Given the description of an element on the screen output the (x, y) to click on. 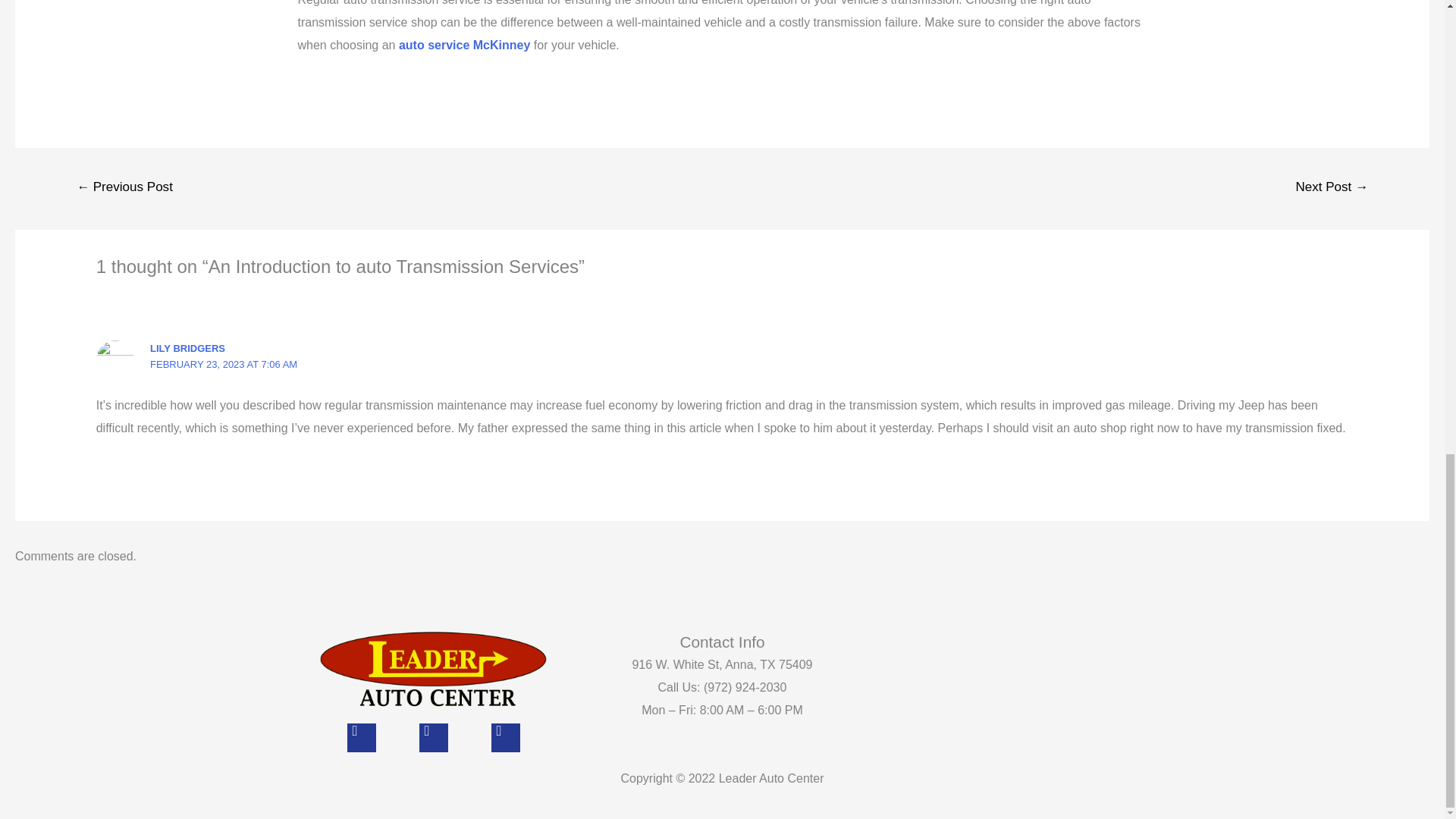
LILY BRIDGERS (187, 348)
auto service McKinney (463, 44)
FEBRUARY 23, 2023 AT 7:06 AM (223, 364)
